Given the description of an element on the screen output the (x, y) to click on. 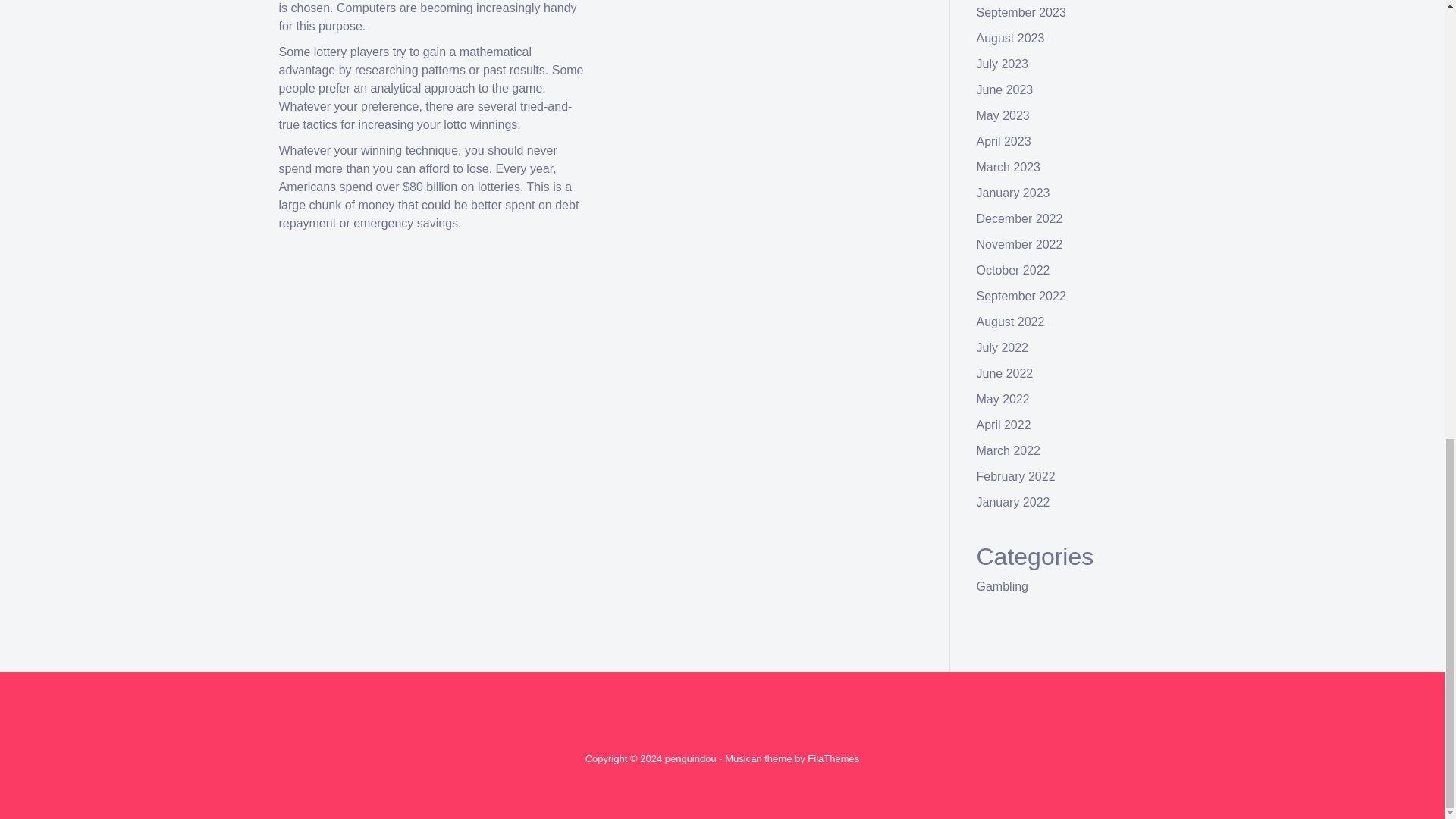
penguindou (690, 758)
December 2022 (1019, 218)
April 2023 (1003, 141)
June 2023 (1004, 89)
January 2023 (1012, 192)
August 2022 (1010, 321)
September 2022 (1020, 295)
November 2022 (1019, 244)
October 2022 (1012, 269)
July 2023 (1002, 63)
September 2023 (1020, 11)
July 2022 (1002, 347)
May 2023 (1002, 115)
June 2022 (1004, 373)
March 2023 (1008, 166)
